Given the description of an element on the screen output the (x, y) to click on. 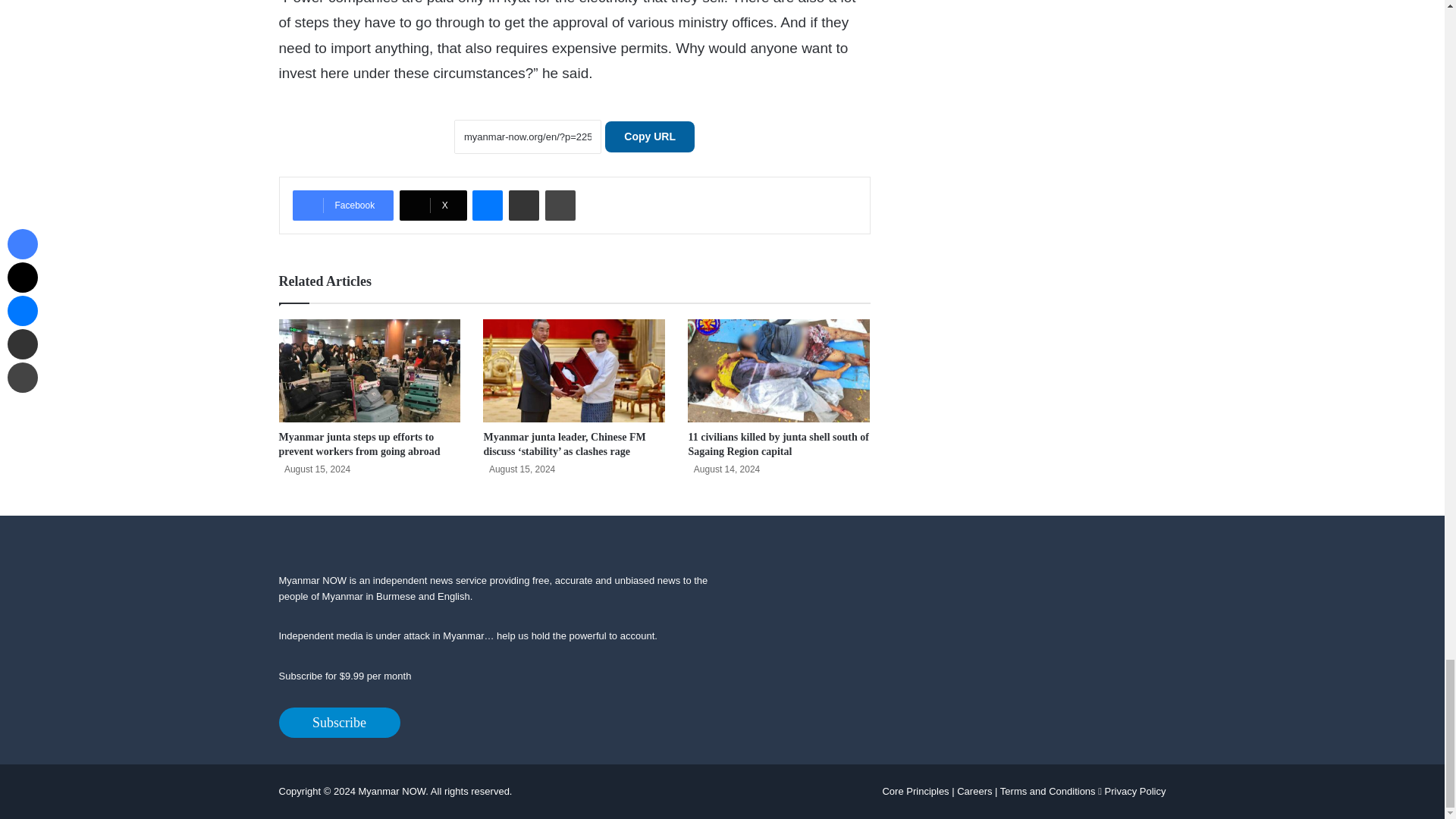
Messenger (486, 205)
Facebook (343, 205)
Share via Email (523, 205)
X (432, 205)
Share via Email (523, 205)
X (432, 205)
Facebook (343, 205)
Copy URL (649, 136)
Print (559, 205)
Messenger (486, 205)
